Given the description of an element on the screen output the (x, y) to click on. 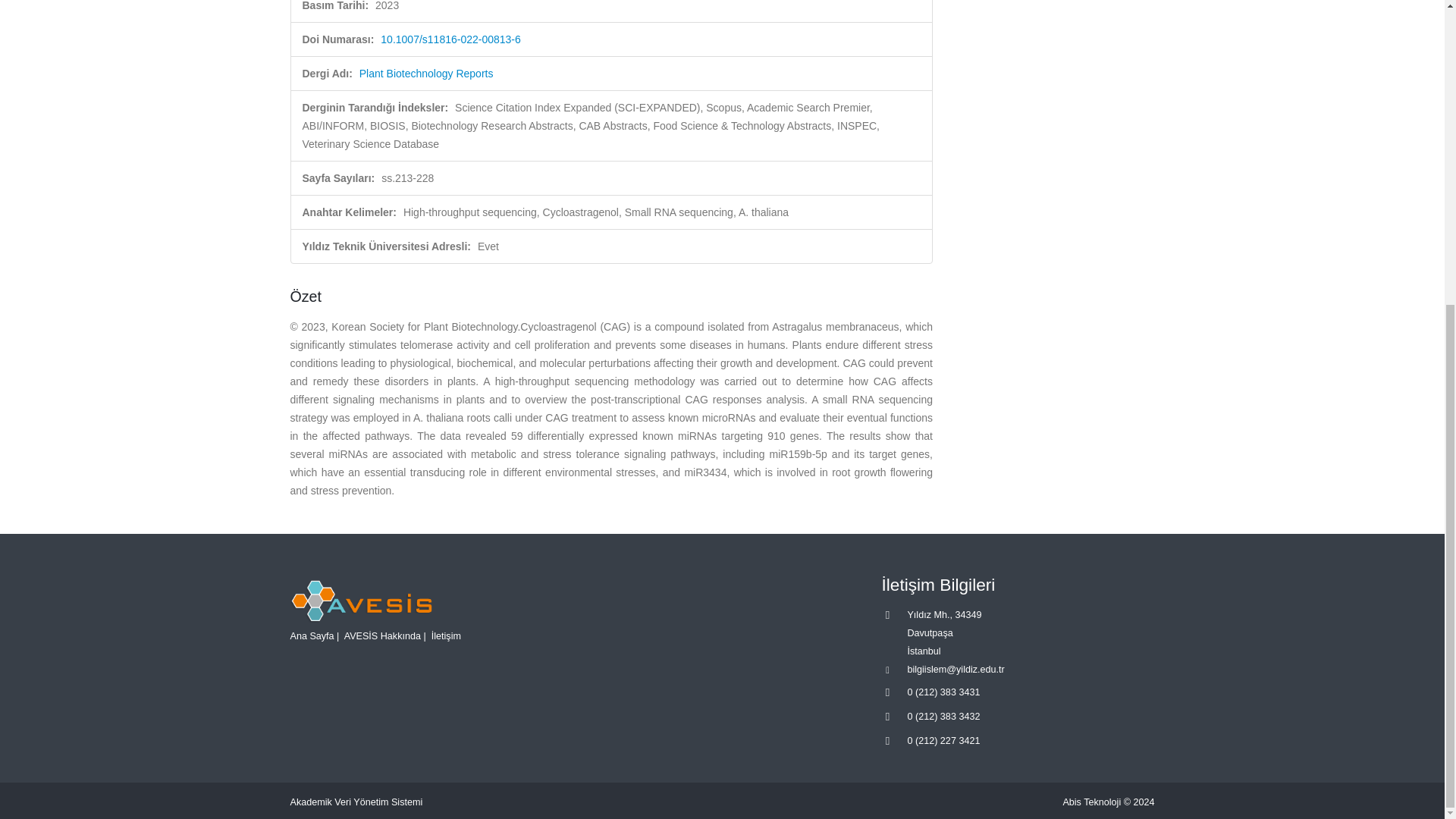
Plant Biotechnology Reports (426, 73)
Ana Sayfa (311, 635)
Abis Teknoloji (1091, 801)
